Given the description of an element on the screen output the (x, y) to click on. 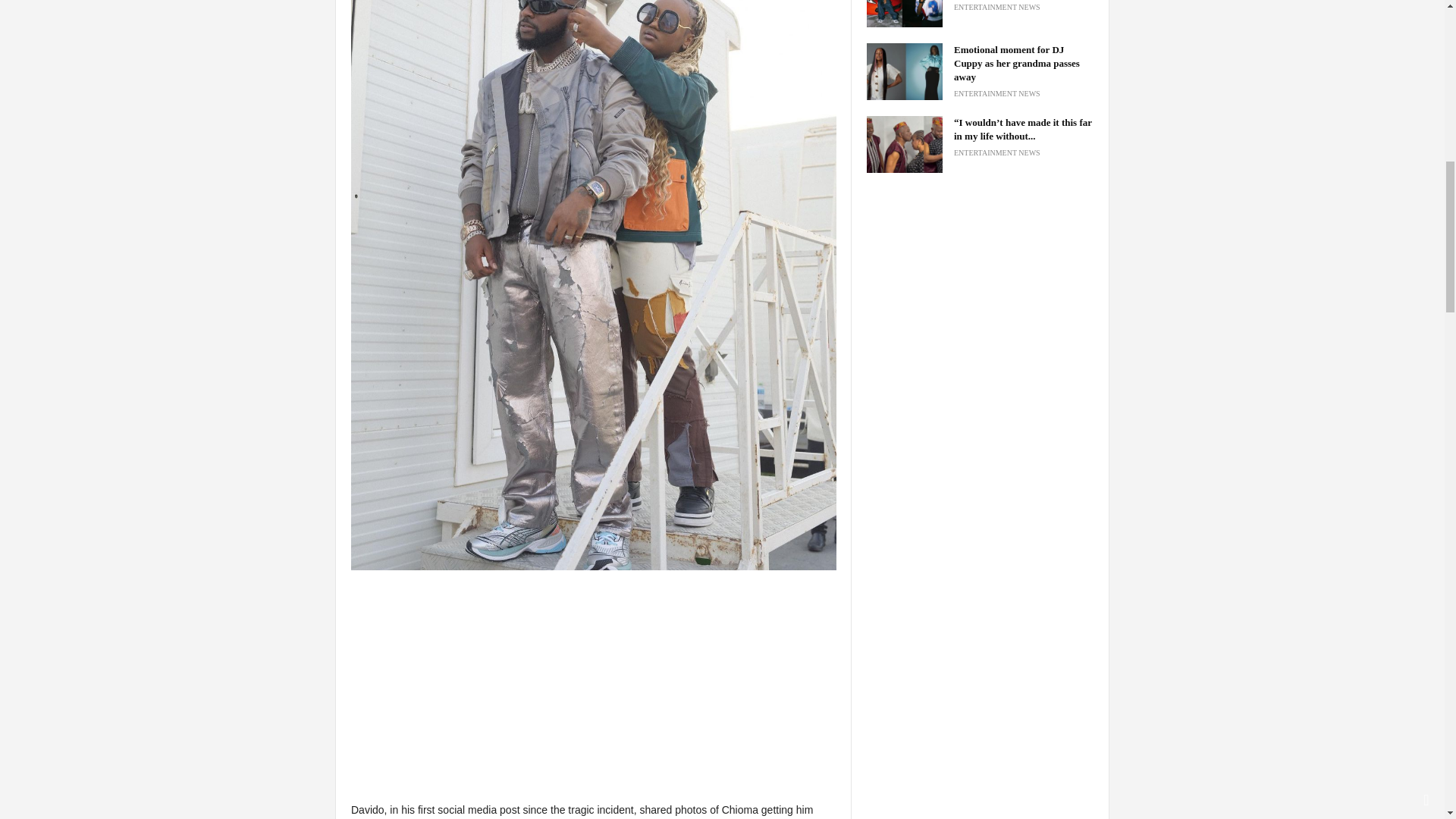
Advertisement (592, 694)
